Given the description of an element on the screen output the (x, y) to click on. 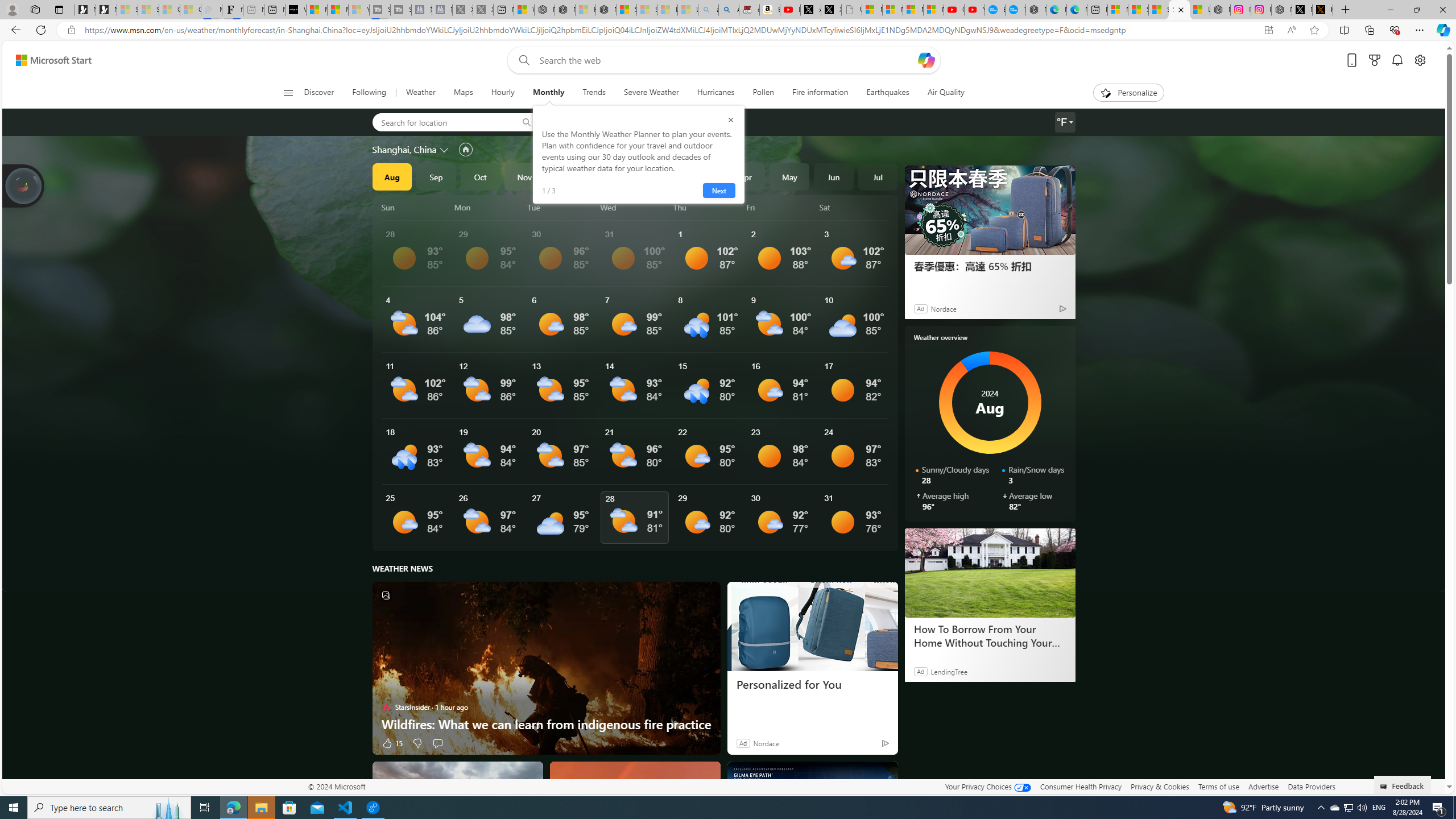
May (789, 176)
Change location (445, 149)
LendingTree (948, 671)
Data Providers (1311, 786)
